Given the description of an element on the screen output the (x, y) to click on. 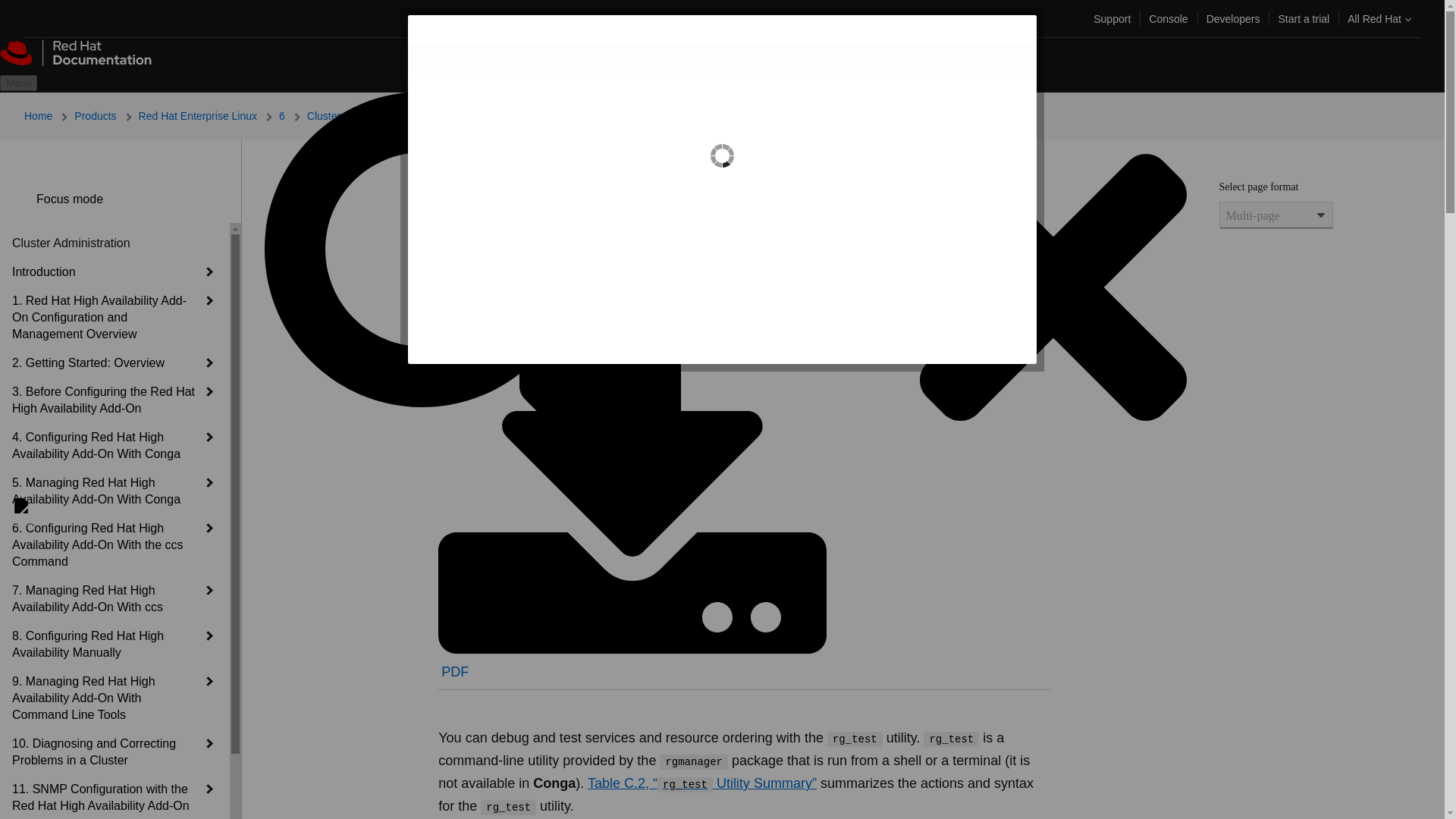
toggle focus mode (23, 199)
Support (1112, 18)
Developers (1232, 18)
Console (1168, 18)
All Red Hat (1379, 18)
Start a trial (1303, 18)
